Given the description of an element on the screen output the (x, y) to click on. 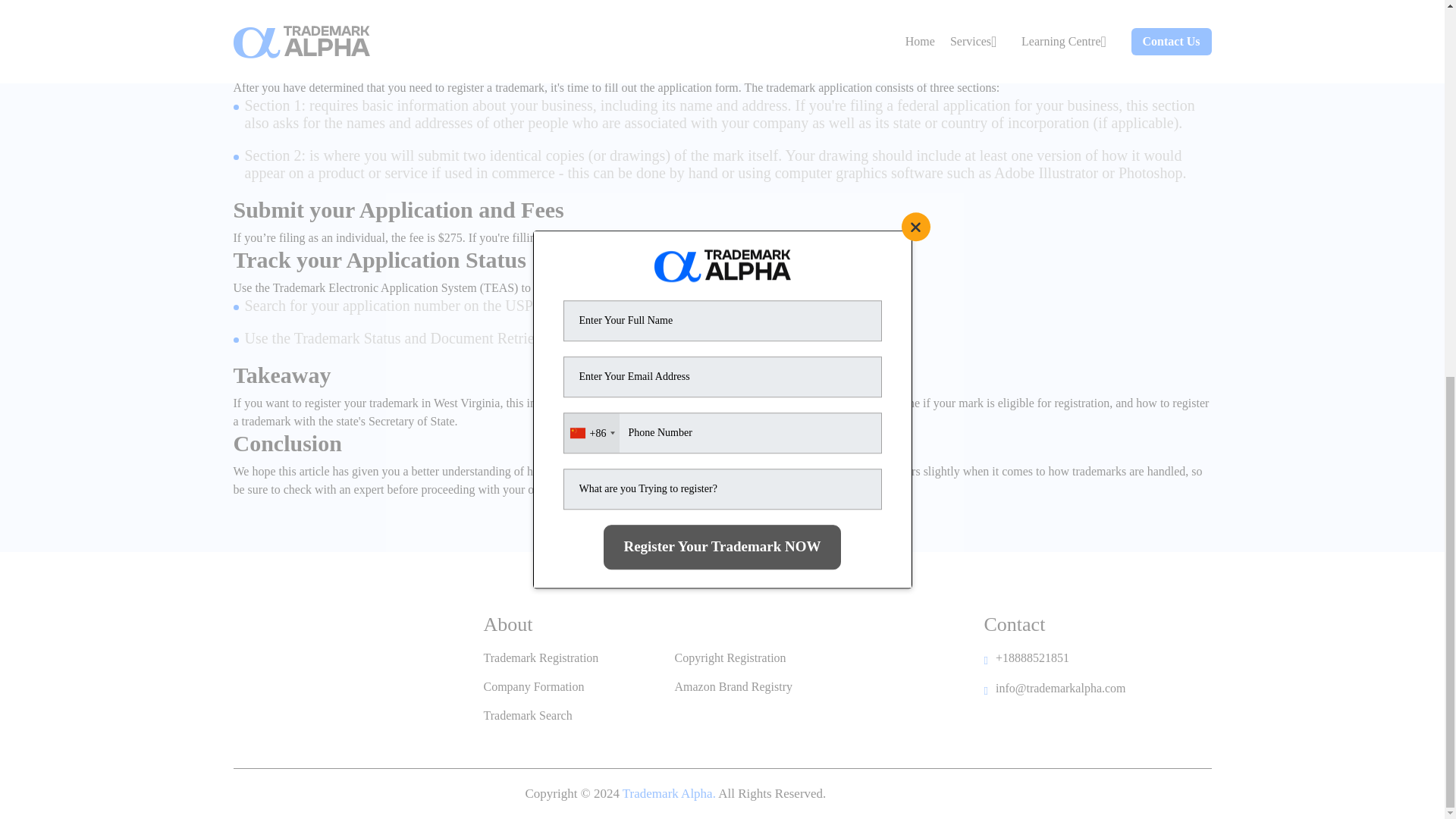
Copyright Registration (730, 658)
Trademark Registration (540, 658)
Trademark Search (527, 715)
Company Formation (534, 686)
Amazon Brand Registry (734, 686)
